Given the description of an element on the screen output the (x, y) to click on. 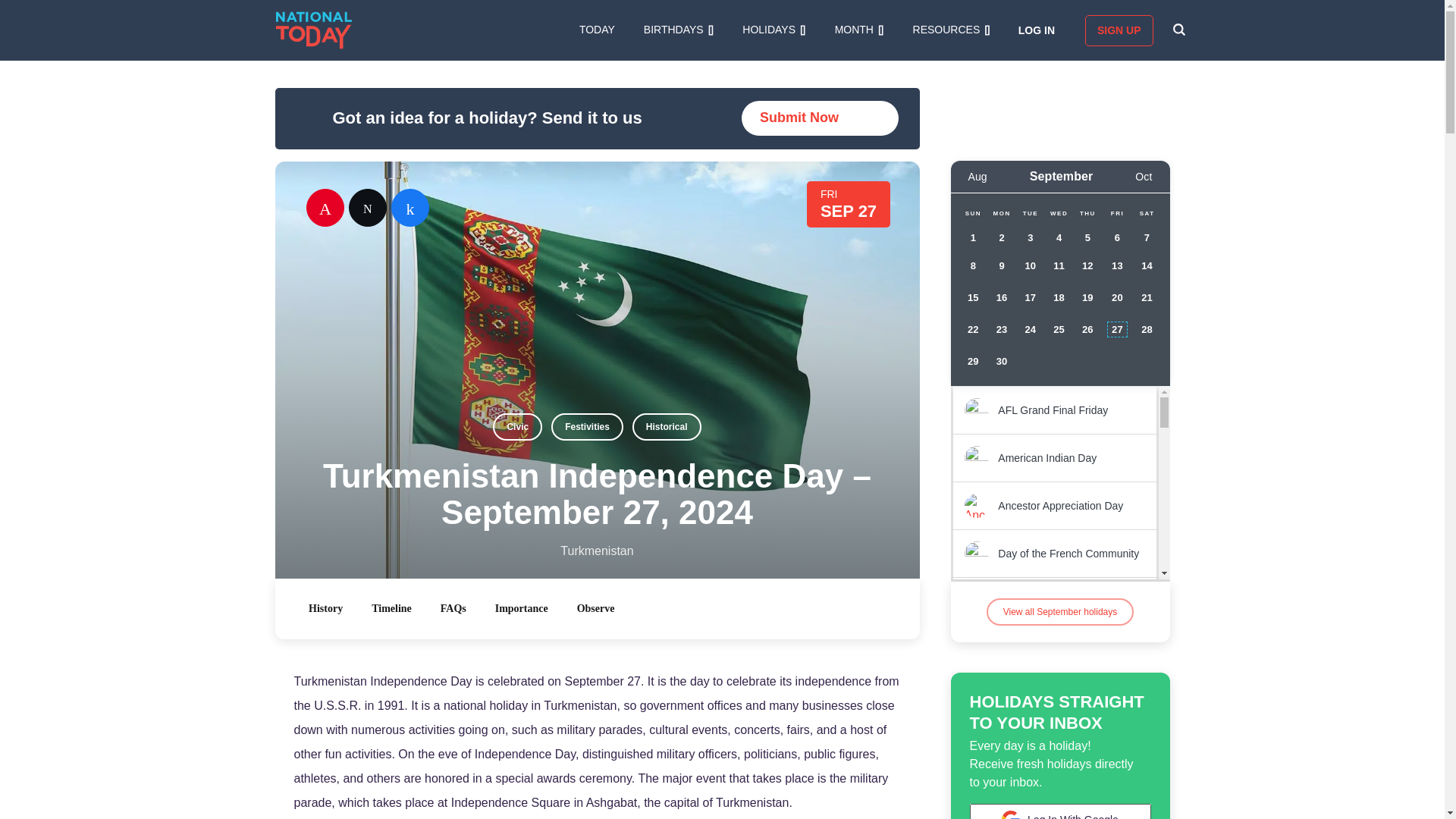
National Today (314, 30)
SEARCH (1178, 29)
MONTH (858, 29)
TODAY (596, 29)
Thursday (1087, 213)
Sunday (973, 213)
Friday (1116, 213)
BIRTHDAYS (678, 29)
Tuesday (1029, 213)
National Today (314, 30)
Monday (1001, 213)
HOLIDAYS (773, 29)
Saturday (1147, 213)
Wednesday (1059, 213)
